Given the description of an element on the screen output the (x, y) to click on. 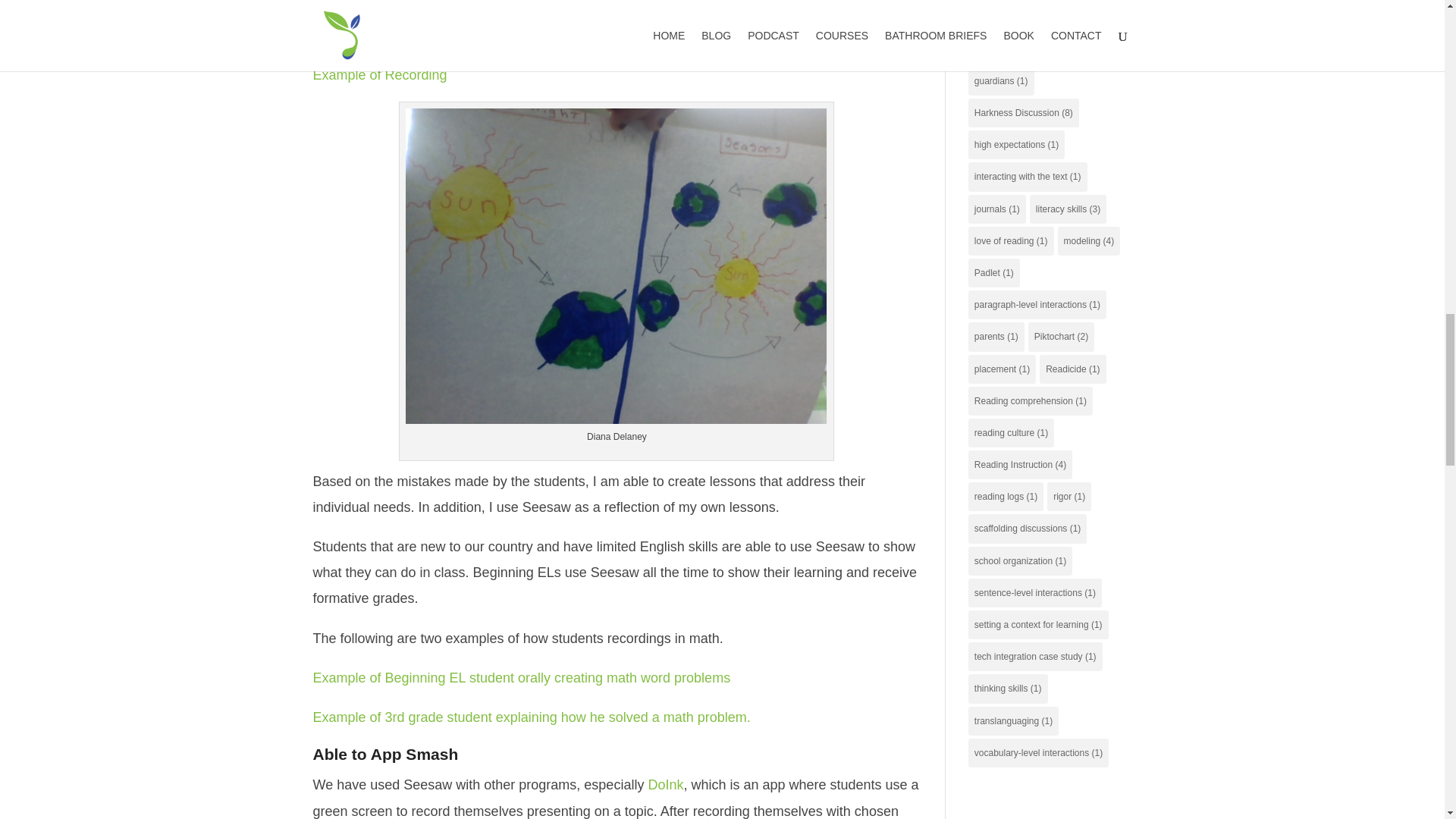
Example of Recording (379, 74)
DoInk (664, 784)
